Given the description of an element on the screen output the (x, y) to click on. 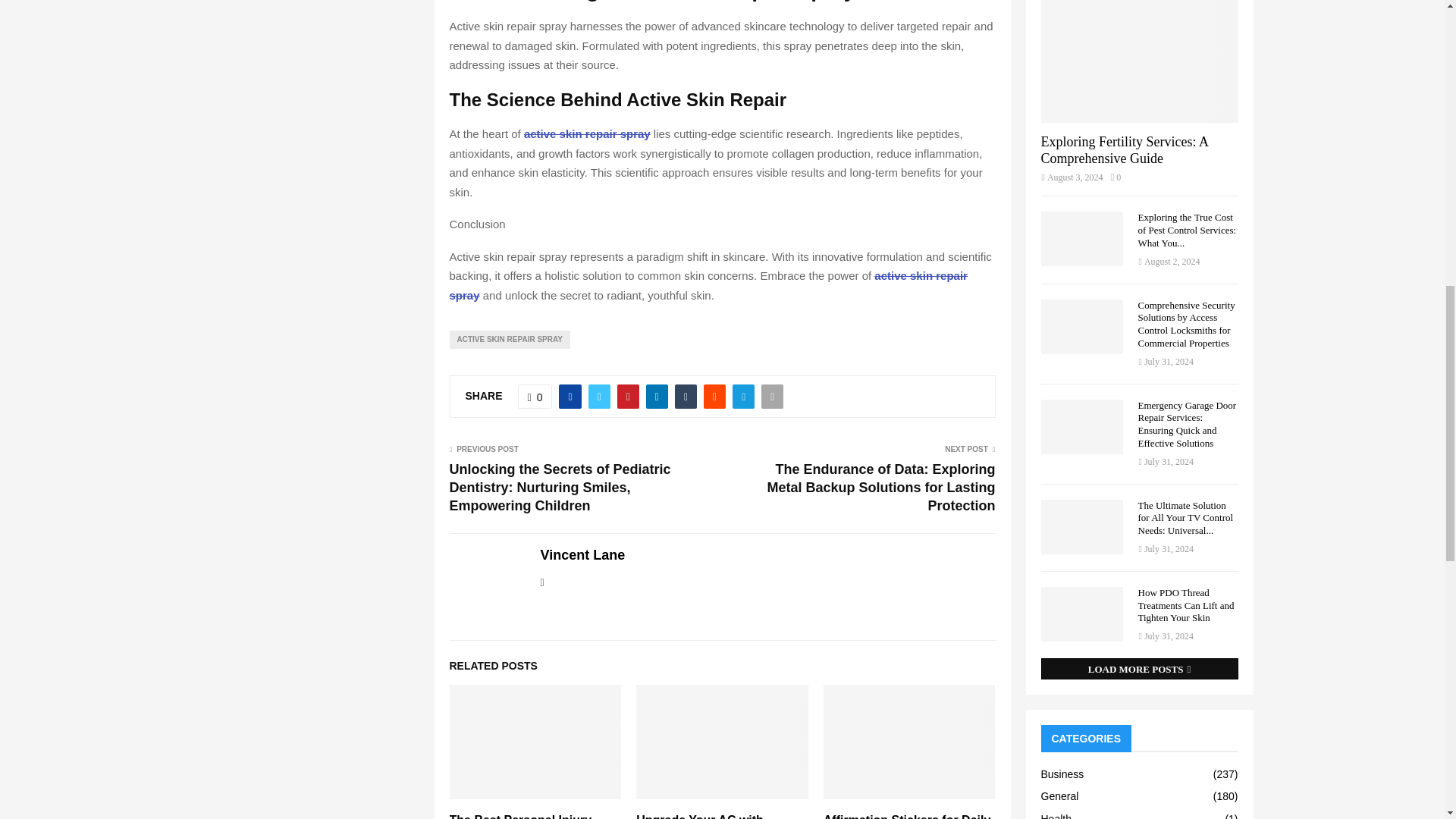
0 (535, 396)
active skin repair spray (707, 285)
ACTIVE SKIN REPAIR SPRAY (508, 339)
active skin repair spray (587, 133)
Like (535, 396)
